Given the description of an element on the screen output the (x, y) to click on. 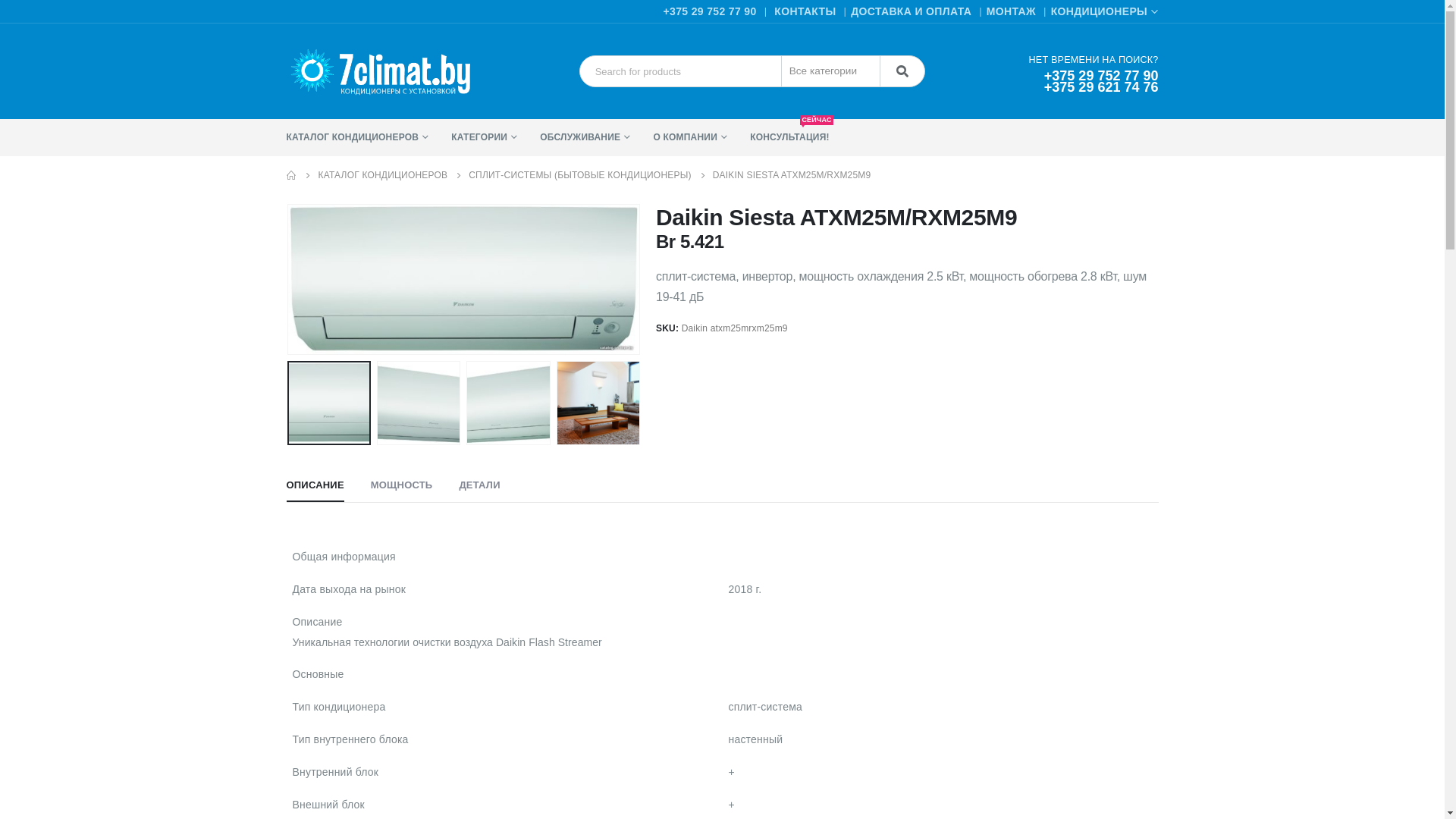
+375 29 752 77 90 Element type: text (1101, 75)
Go to Home Page Element type: hover (291, 175)
Daikin-Siesta-ATXM25MRXM25M9 Element type: hover (464, 279)
+375 29 752 77 90 Element type: text (709, 11)
+375 29 621 74 76 Element type: text (1101, 86)
